Given the description of an element on the screen output the (x, y) to click on. 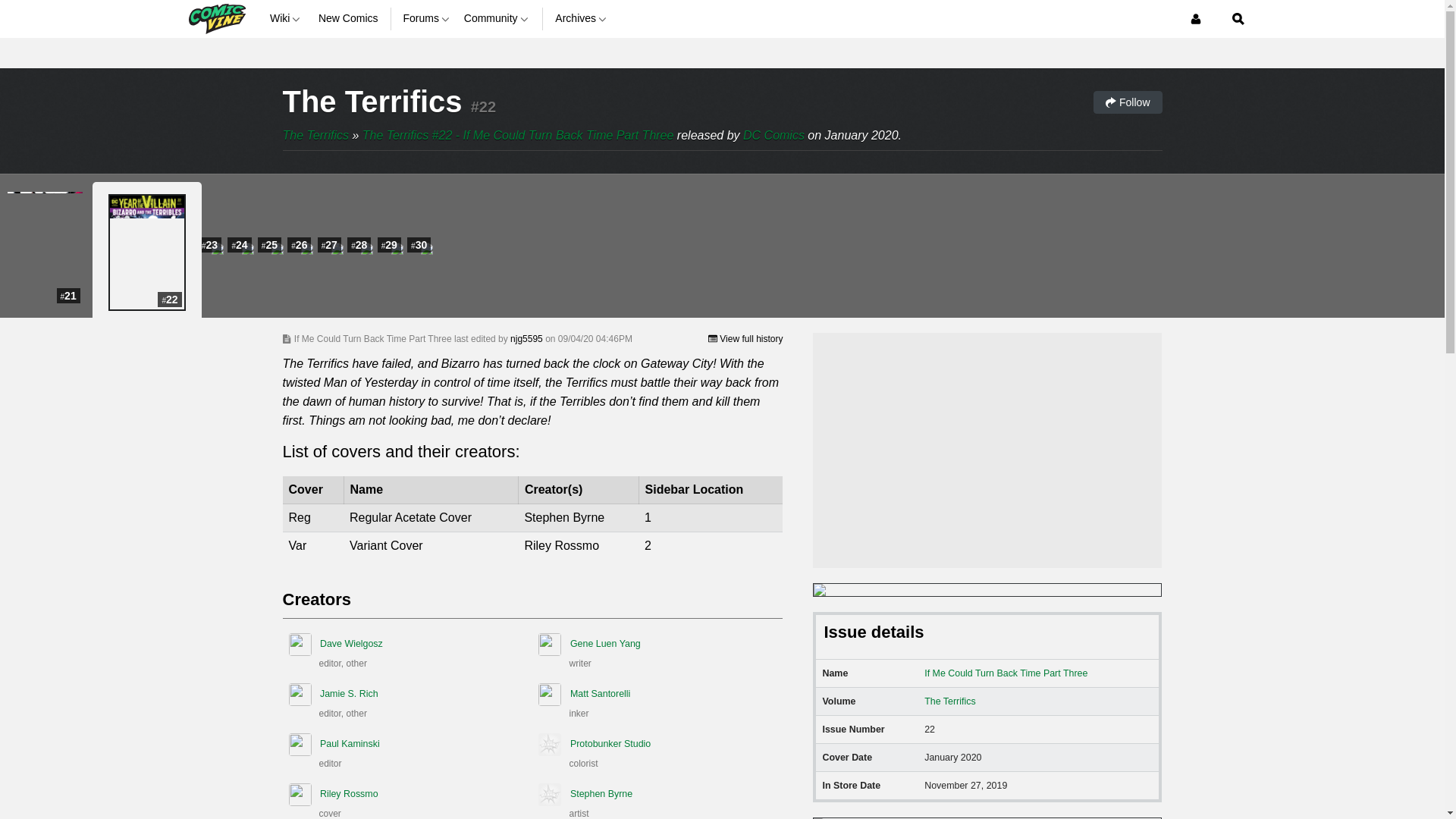
Comic Vine (215, 18)
Community (497, 18)
Forums (427, 18)
New Comics (348, 18)
Wiki (287, 18)
